Given the description of an element on the screen output the (x, y) to click on. 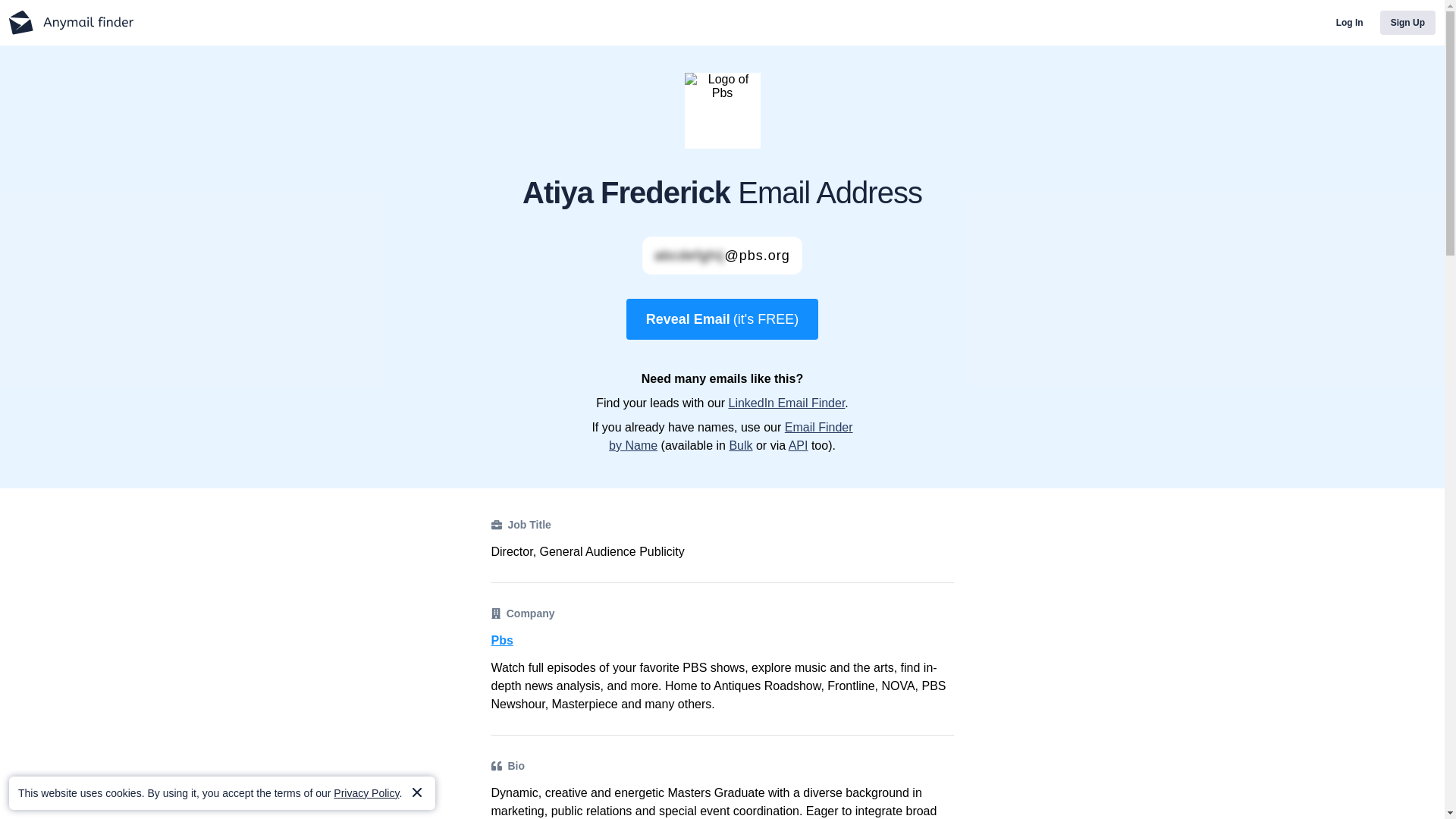
API (798, 445)
Sign Up (1407, 22)
Pbs (722, 640)
Log In (1349, 22)
Bulk (740, 445)
LinkedIn Email Finder (786, 402)
Email Finder by Name (730, 436)
